Given the description of an element on the screen output the (x, y) to click on. 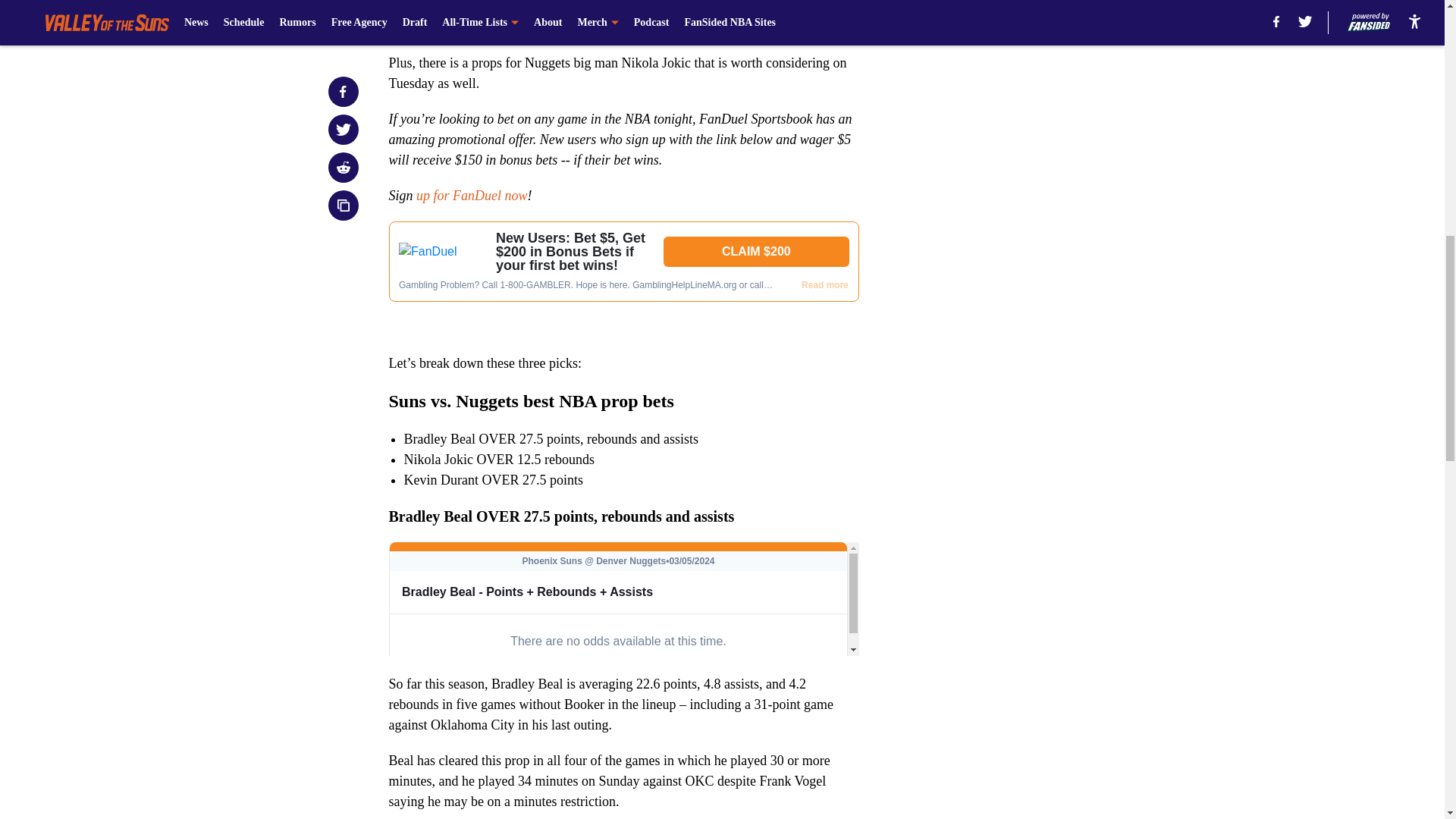
 up for FanDuel now (470, 195)
